Given the description of an element on the screen output the (x, y) to click on. 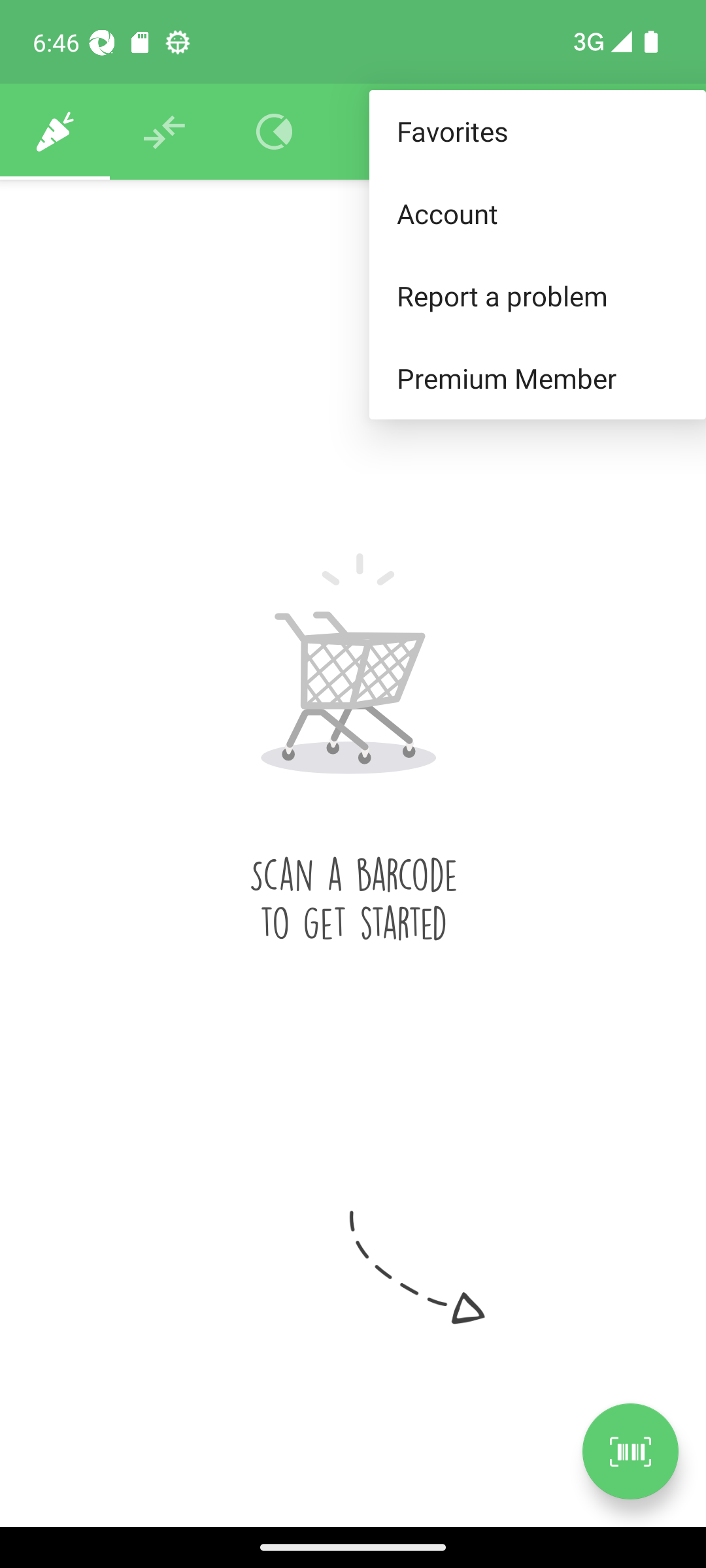
Favorites (537, 131)
Account (537, 213)
Report a problem (537, 295)
Premium Member (537, 378)
